Given the description of an element on the screen output the (x, y) to click on. 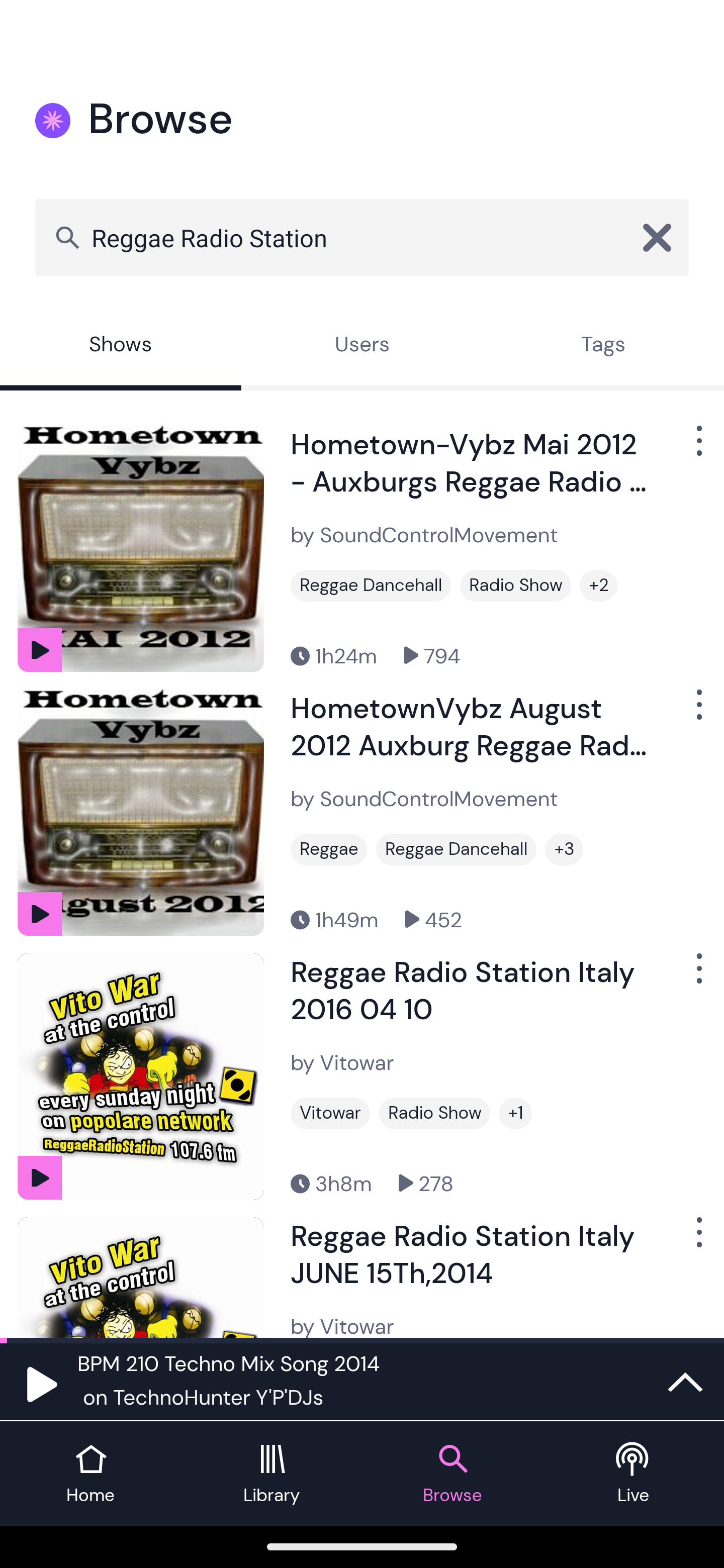
Reggae Radio Station (361, 237)
Shows (120, 346)
Users (361, 346)
Tags (603, 346)
Show Options Menu Button (697, 447)
Reggae Dancehall (370, 585)
Radio Show (515, 585)
Show Options Menu Button (697, 712)
Reggae (328, 849)
Reggae Dancehall (455, 849)
Show Options Menu Button (697, 975)
Vitowar (329, 1112)
Radio Show (434, 1112)
Show Options Menu Button (697, 1239)
Home tab Home (90, 1473)
Library tab Library (271, 1473)
Browse tab Browse (452, 1473)
Live tab Live (633, 1473)
